Given the description of an element on the screen output the (x, y) to click on. 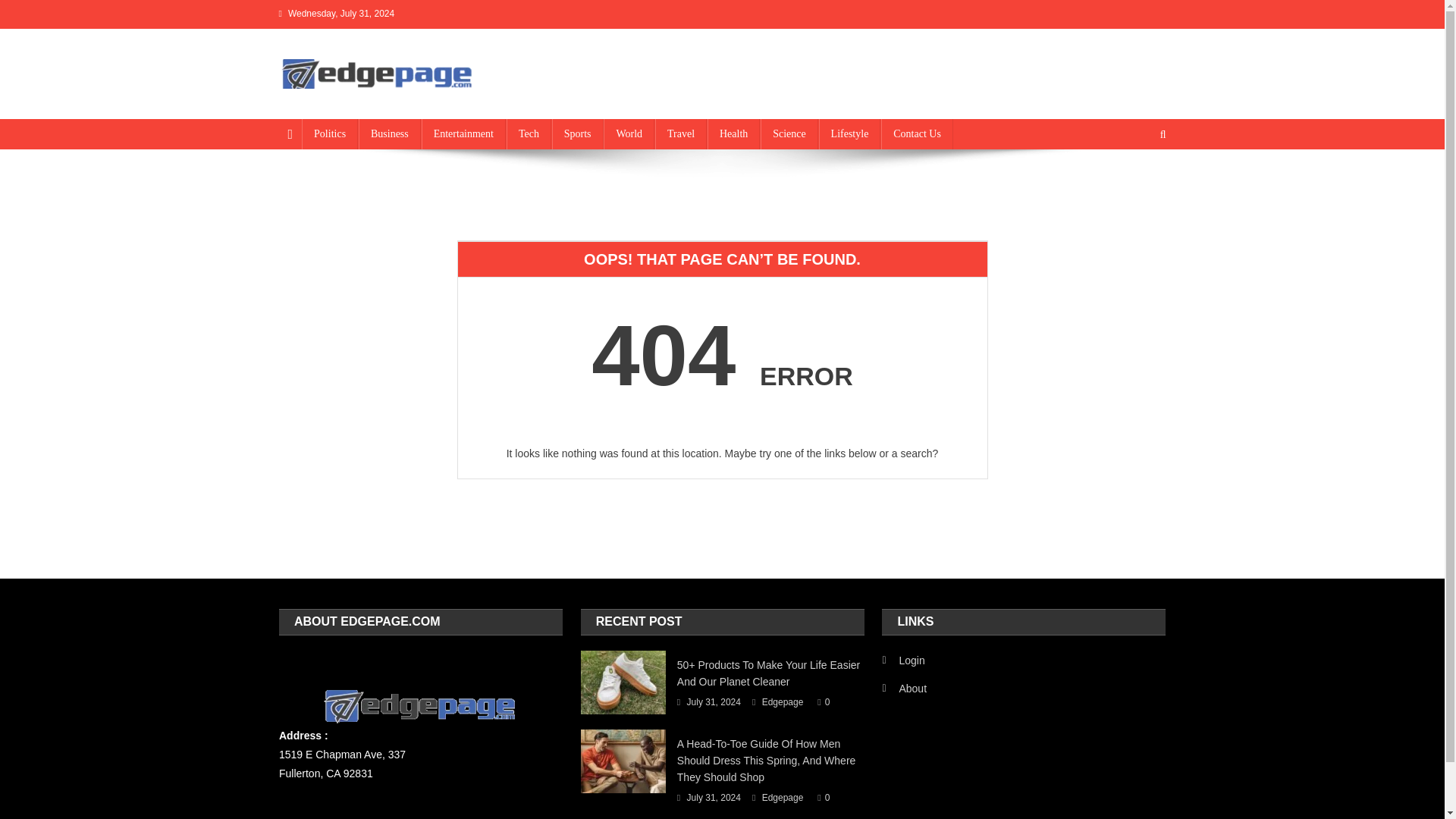
Sports (577, 133)
Edgepage (782, 798)
World (628, 133)
Search (1133, 185)
Business (389, 133)
July 31, 2024 (714, 798)
About (904, 688)
Politics (329, 133)
Contact Us (916, 133)
Health (733, 133)
Edgepage (782, 702)
Lifestyle (849, 133)
Entertainment (463, 133)
Science (789, 133)
